Given the description of an element on the screen output the (x, y) to click on. 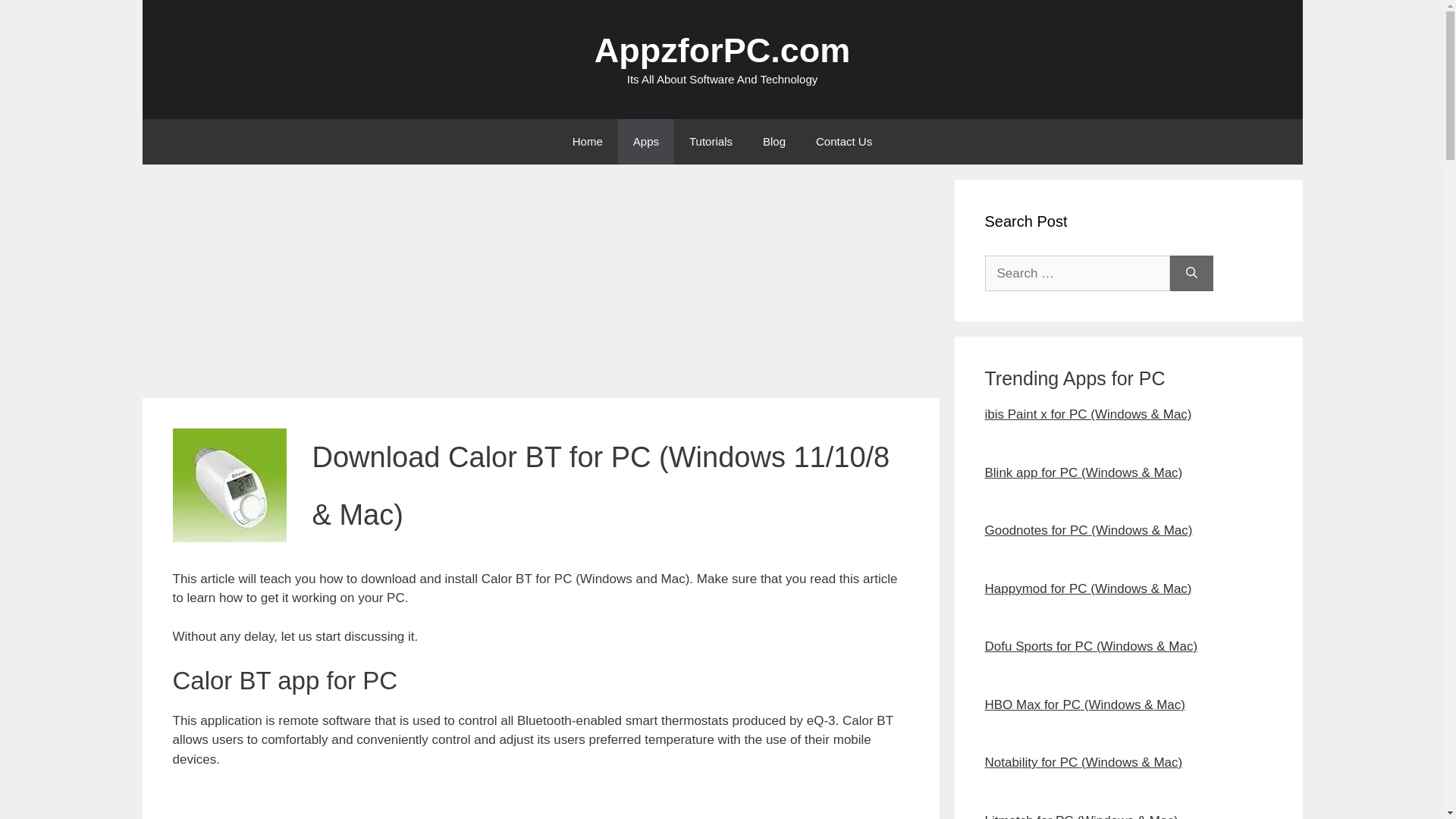
Search for: (1076, 272)
Advertisement (540, 803)
Tutorials (711, 140)
AppzforPC.com (722, 50)
Home (587, 140)
Blog (774, 140)
Apps (645, 140)
Contact Us (843, 140)
